Given the description of an element on the screen output the (x, y) to click on. 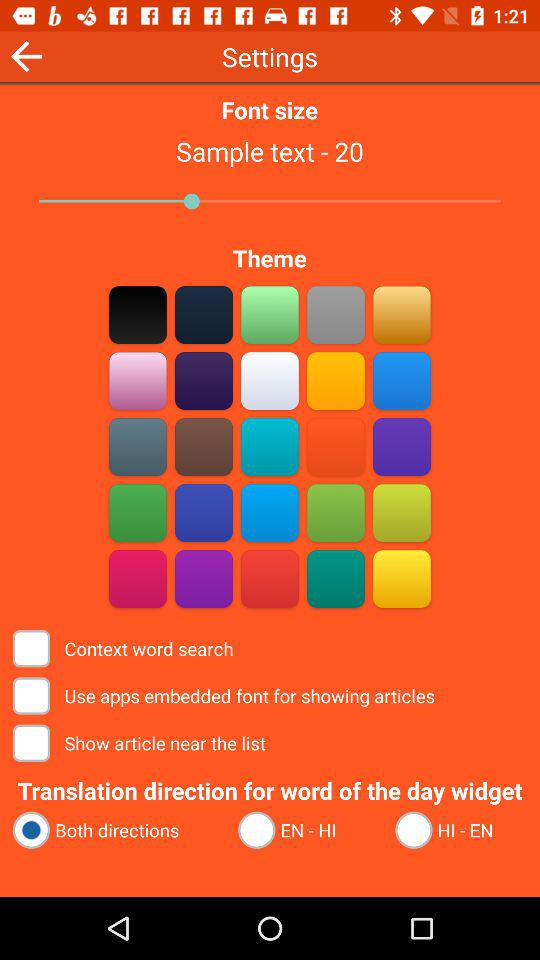
make background pink (137, 380)
